Given the description of an element on the screen output the (x, y) to click on. 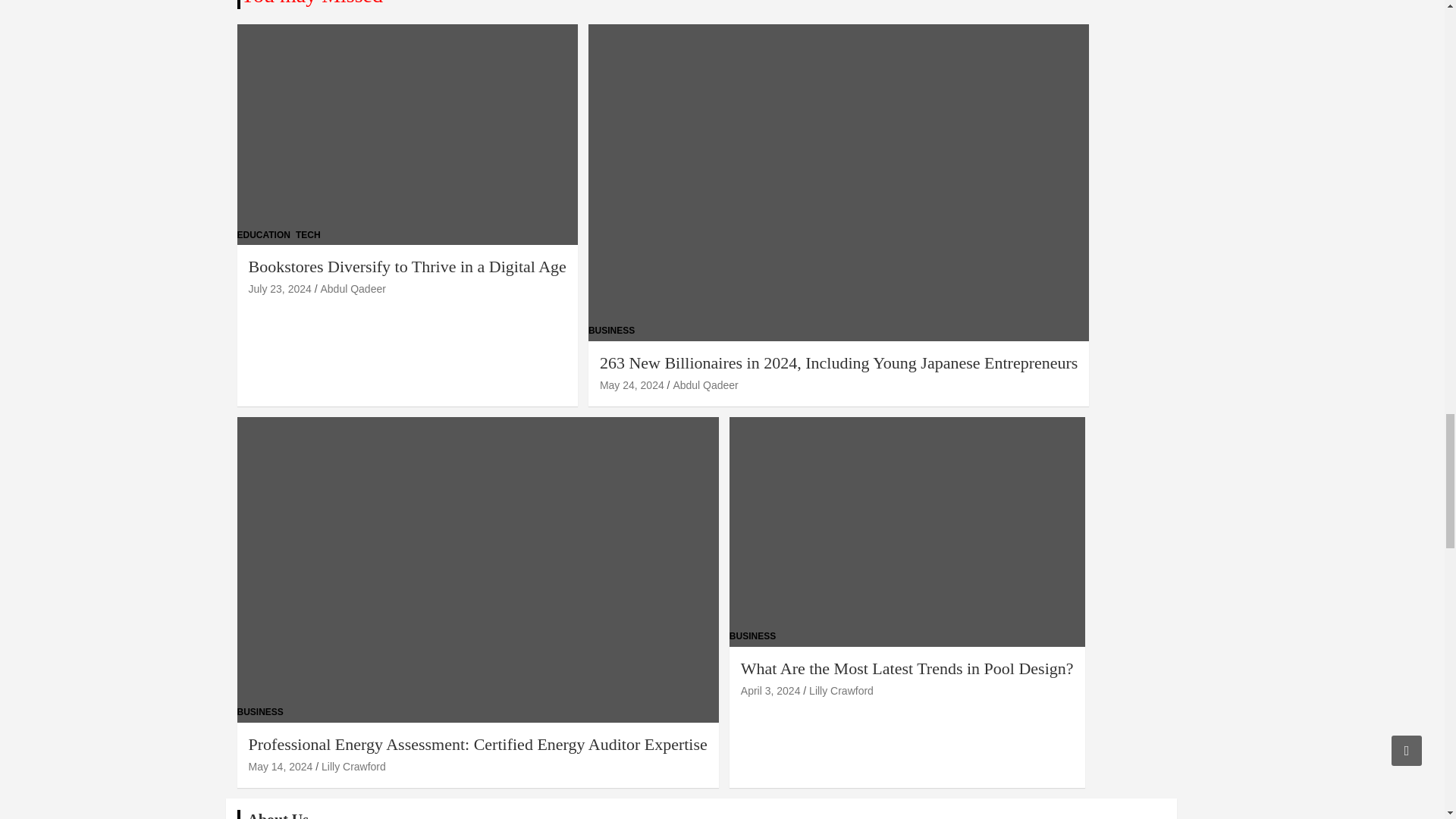
Bookstores Diversify to Thrive in a Digital Age (279, 288)
